Given the description of an element on the screen output the (x, y) to click on. 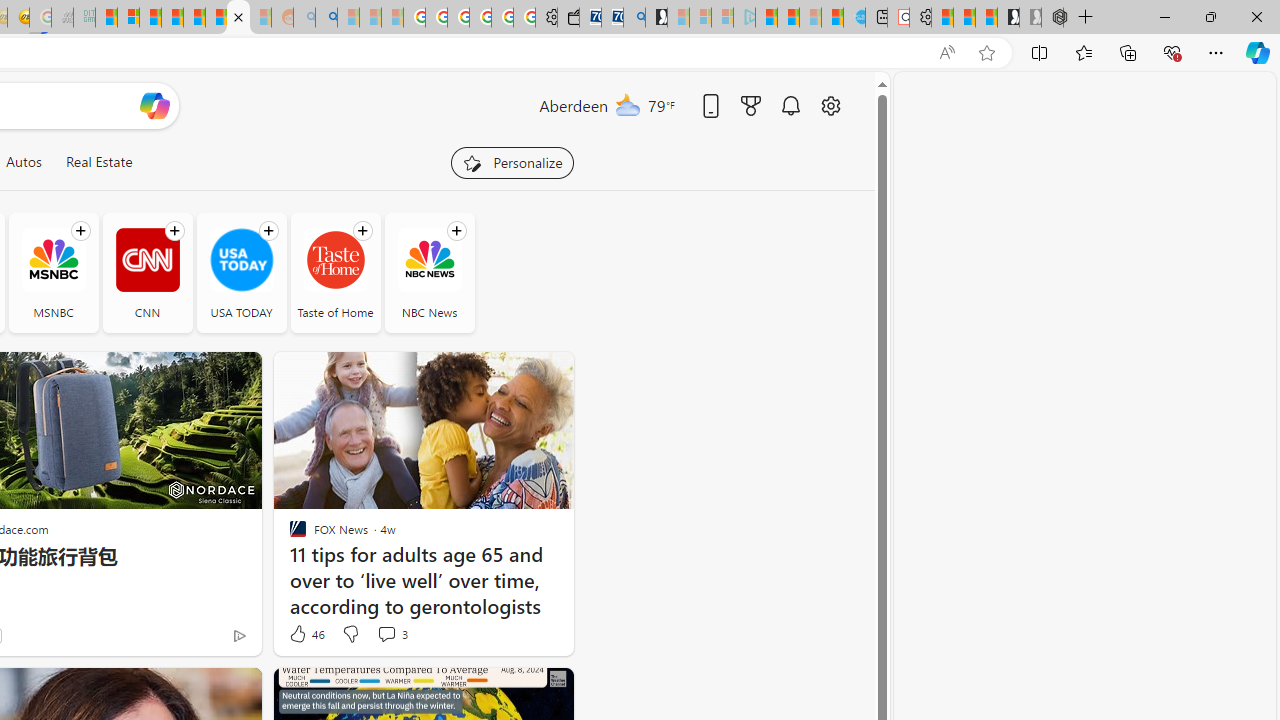
CNN (147, 260)
Utah sues federal government - Search (326, 17)
Mostly cloudy (628, 104)
NBC News (429, 260)
Taste of Home (335, 272)
Real Estate (98, 161)
MSNBC (52, 260)
Hide this story (512, 691)
